Given the description of an element on the screen output the (x, y) to click on. 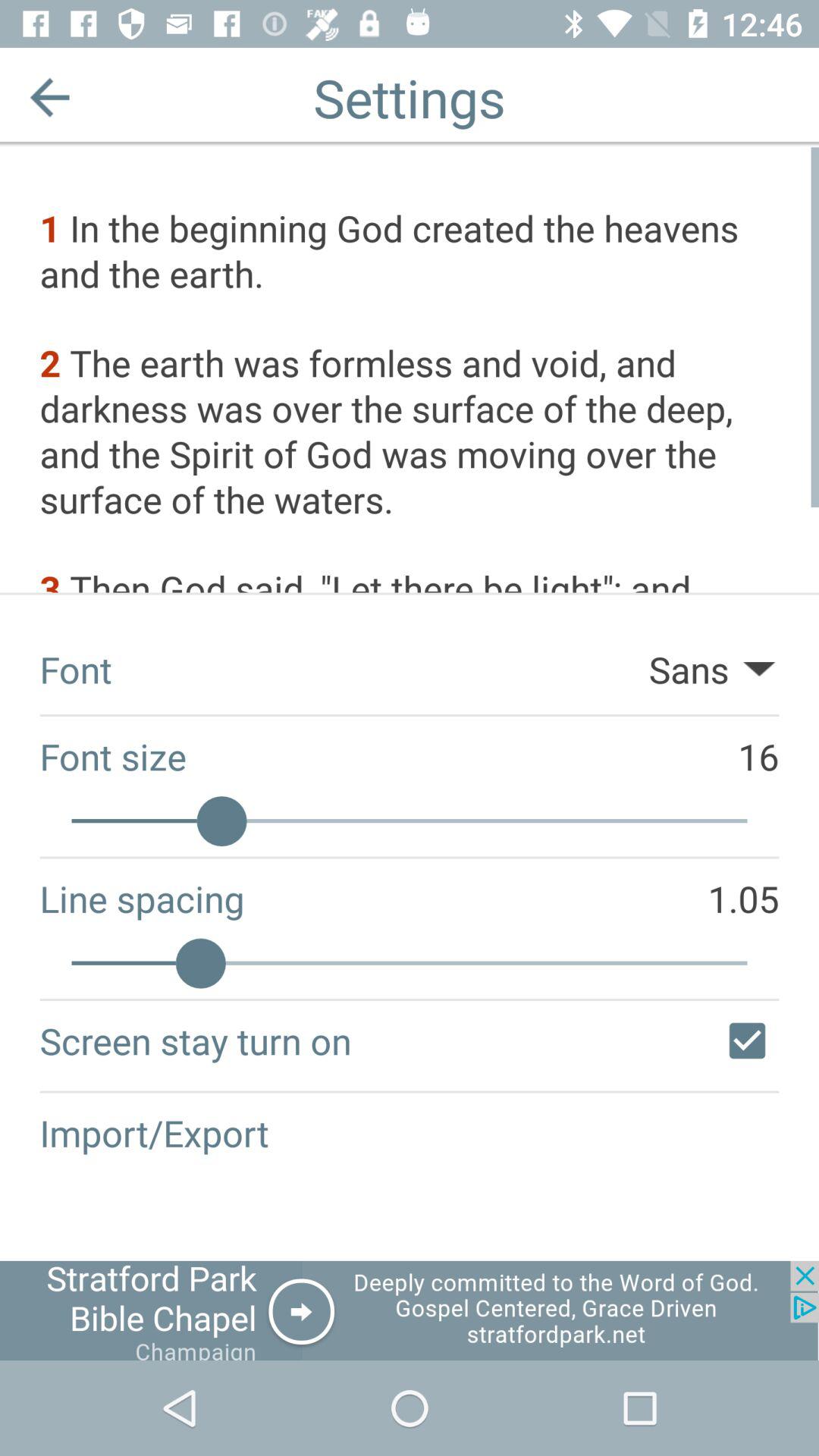
back button (49, 97)
